Given the description of an element on the screen output the (x, y) to click on. 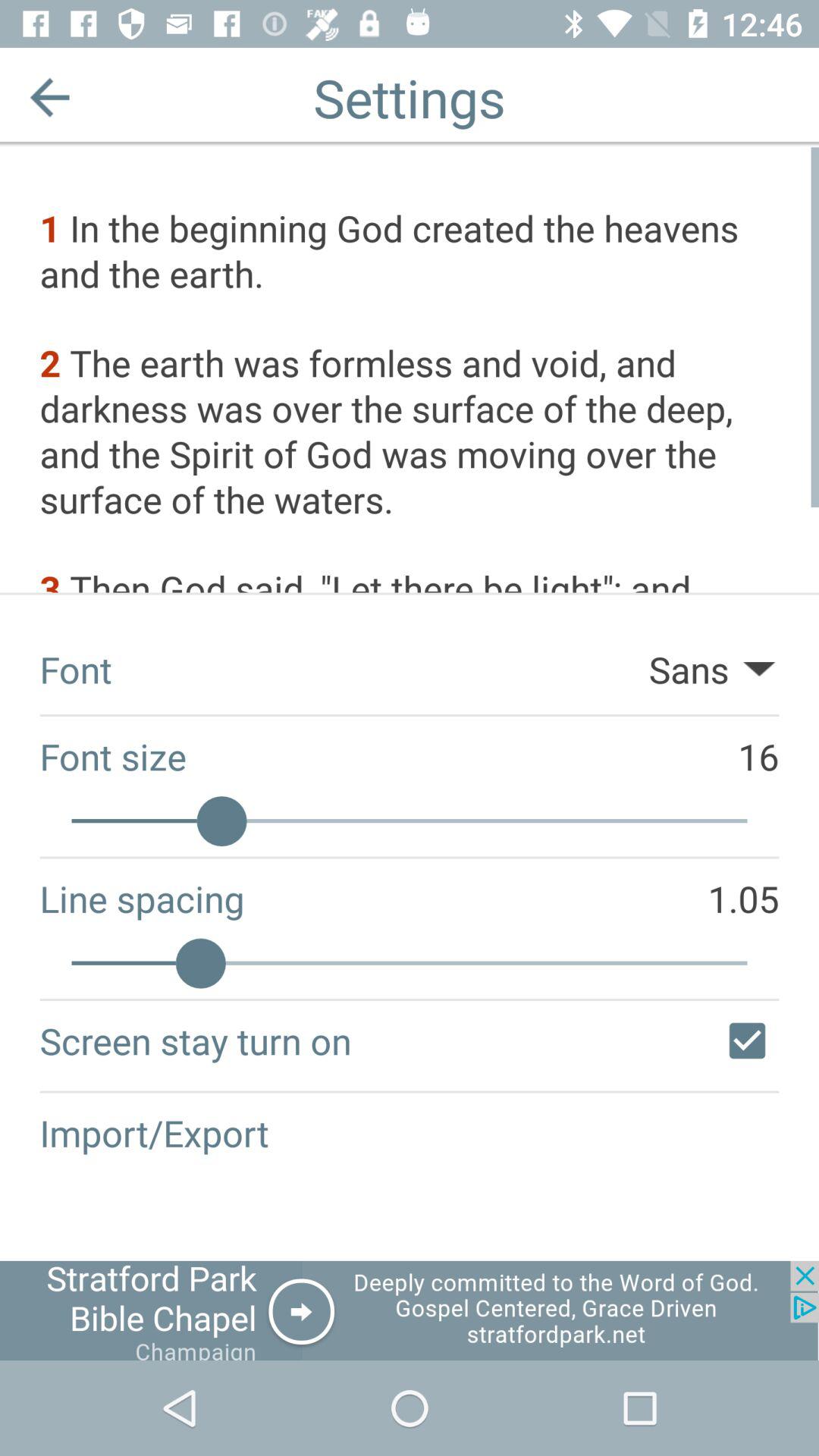
back button (49, 97)
